Given the description of an element on the screen output the (x, y) to click on. 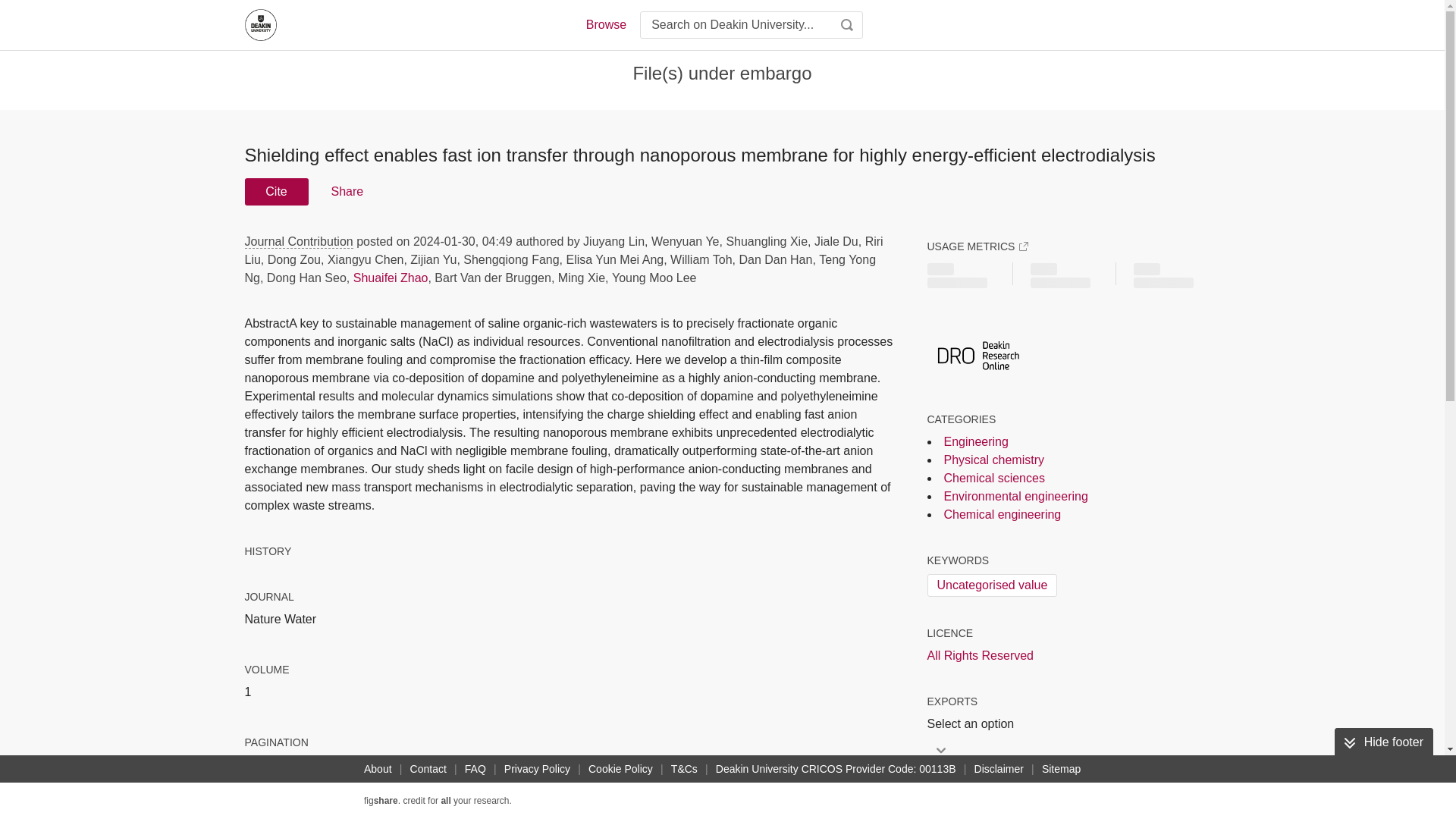
Chemical sciences (993, 477)
Privacy Policy (537, 769)
USAGE METRICS (976, 246)
Shuaifei Zhao (390, 277)
About (377, 769)
Environmental engineering (1015, 495)
Engineering (975, 440)
Disclaimer (998, 769)
Hide footer (1383, 742)
Browse (605, 24)
